Given the description of an element on the screen output the (x, y) to click on. 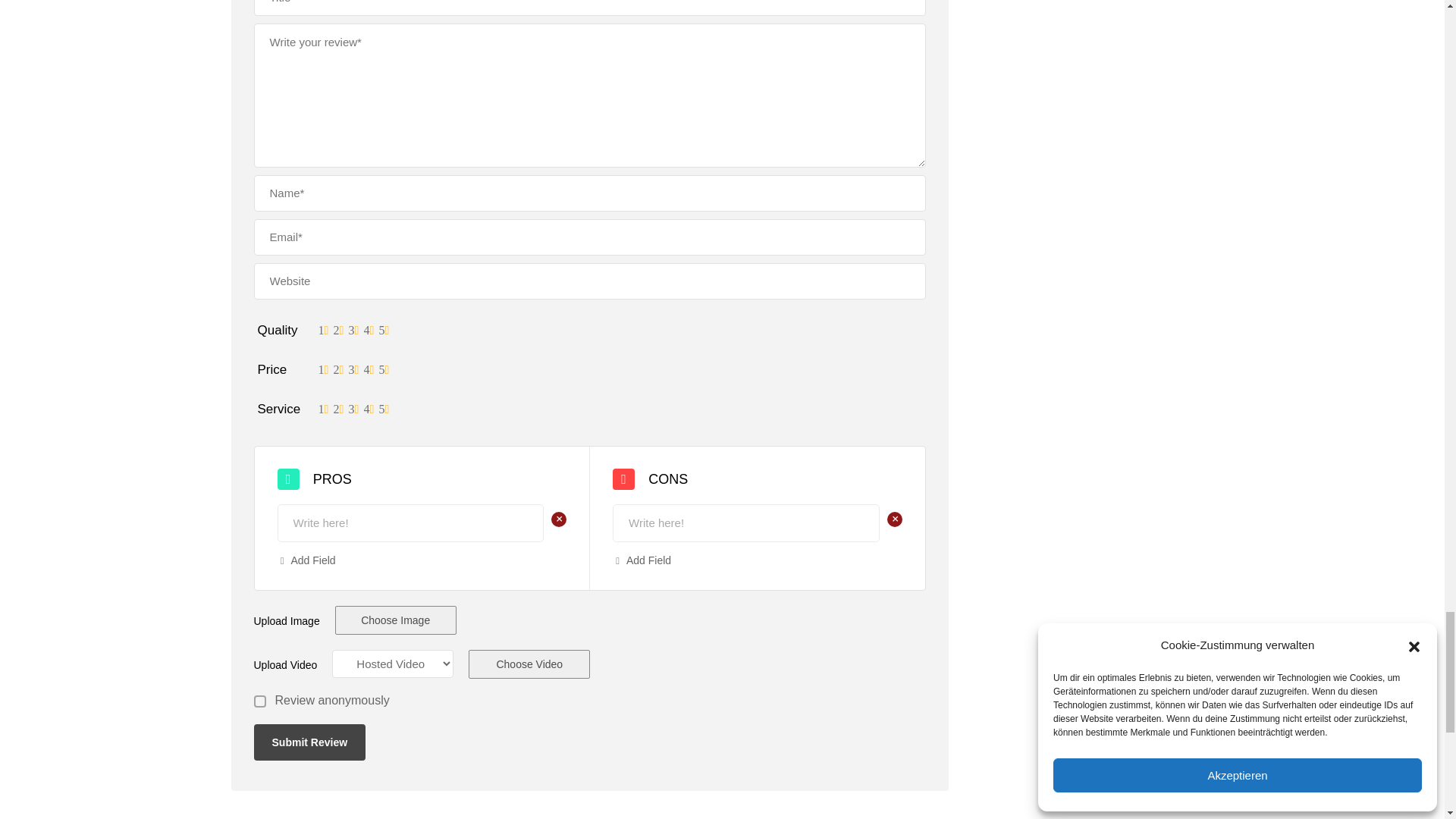
Submit Review (309, 741)
